Given the description of an element on the screen output the (x, y) to click on. 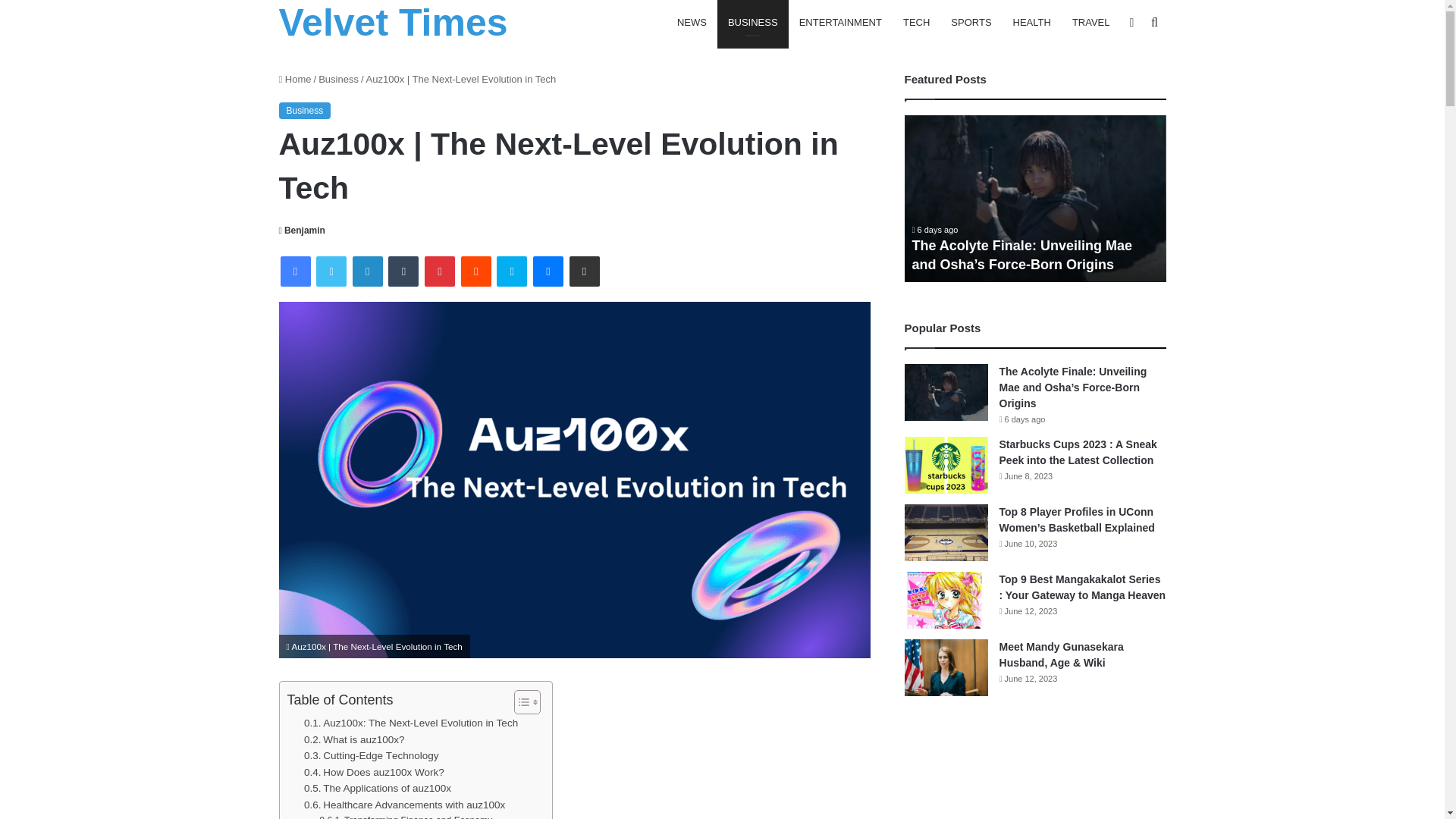
Business (305, 110)
Pinterest (439, 271)
Velvet Times (393, 22)
Benjamin (301, 230)
Share via Email (583, 271)
Healthcare Advancements with auz100x (404, 805)
SPORTS (970, 22)
Facebook (296, 271)
Auz100x: The Next-Level Evolution in Tech (411, 723)
Pinterest (439, 271)
Transforming Finance and Economy (405, 816)
BUSINESS (753, 22)
Skype (511, 271)
Facebook (296, 271)
Benjamin (301, 230)
